Given the description of an element on the screen output the (x, y) to click on. 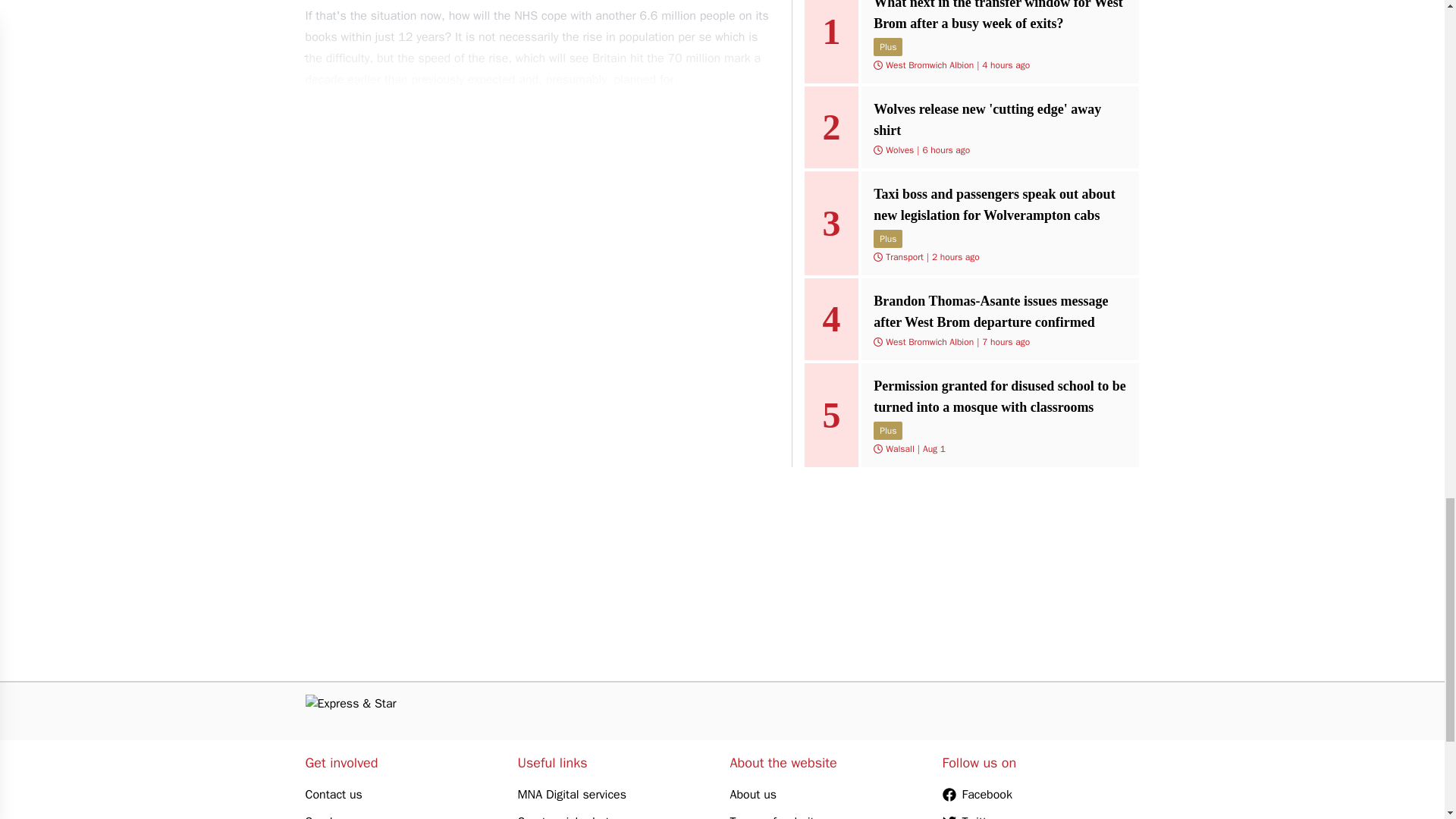
West Bromwich Albion (929, 64)
West Bromwich Albion (929, 341)
Transport (904, 256)
Wolves (899, 150)
Walsall (899, 449)
